Given the description of an element on the screen output the (x, y) to click on. 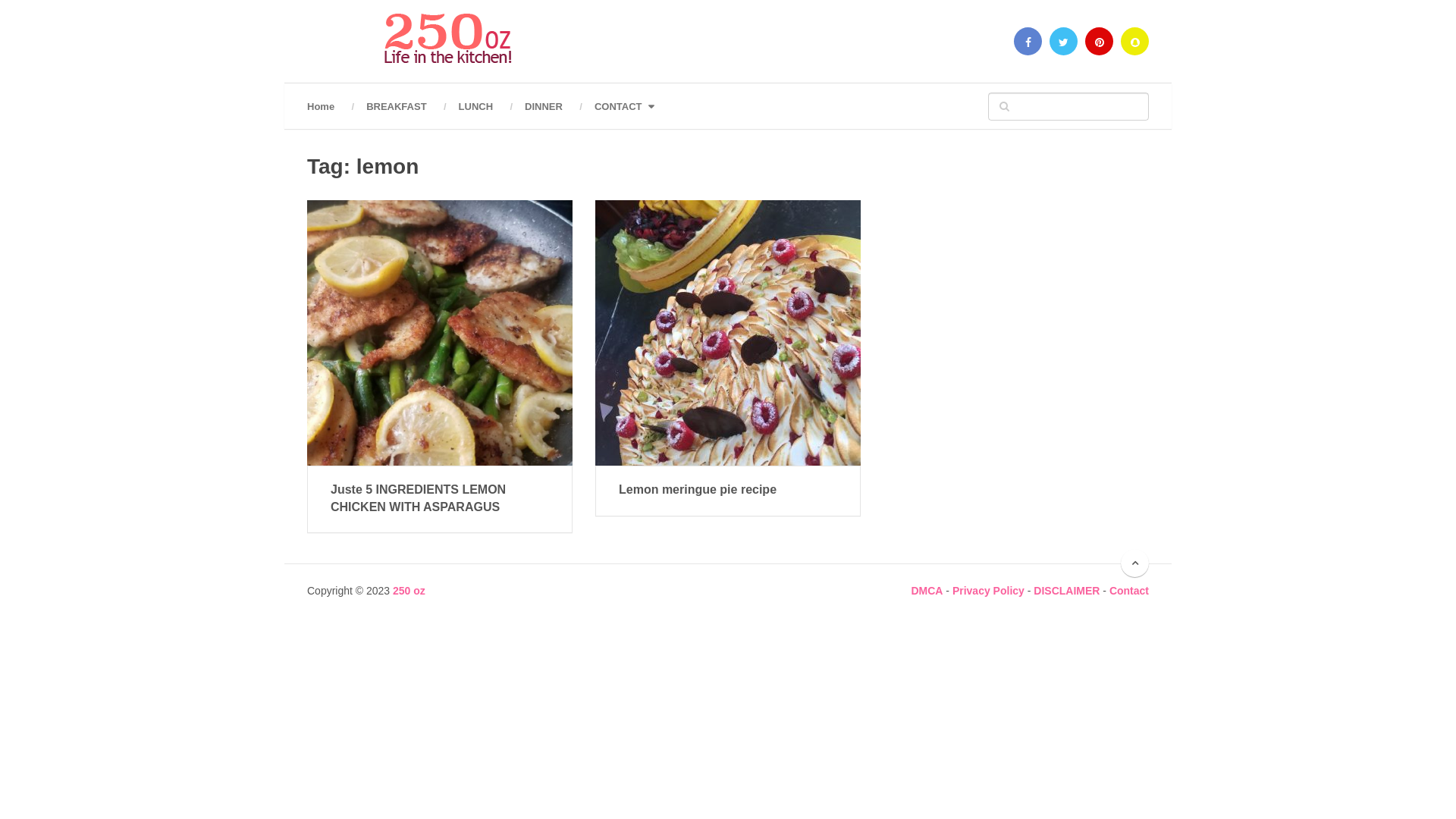
BREAKFAST Element type: text (396, 105)
Juste 5 INGREDIENTS LEMON CHICKEN WITH ASPARAGUS Element type: hover (439, 332)
Lemon meringue pie recipe Element type: hover (727, 332)
250 oz Element type: text (408, 590)
CONTACT Element type: text (623, 105)
LUNCH Element type: text (475, 105)
Home Element type: text (328, 105)
Lemon meringue pie recipe Element type: text (727, 489)
DINNER Element type: text (543, 105)
Juste 5 INGREDIENTS LEMON CHICKEN WITH ASPARAGUS Element type: text (439, 498)
DISCLAIMER Element type: text (1066, 590)
DMCA Element type: text (926, 590)
Contact Element type: text (1128, 590)
Privacy Policy Element type: text (988, 590)
